Given the description of an element on the screen output the (x, y) to click on. 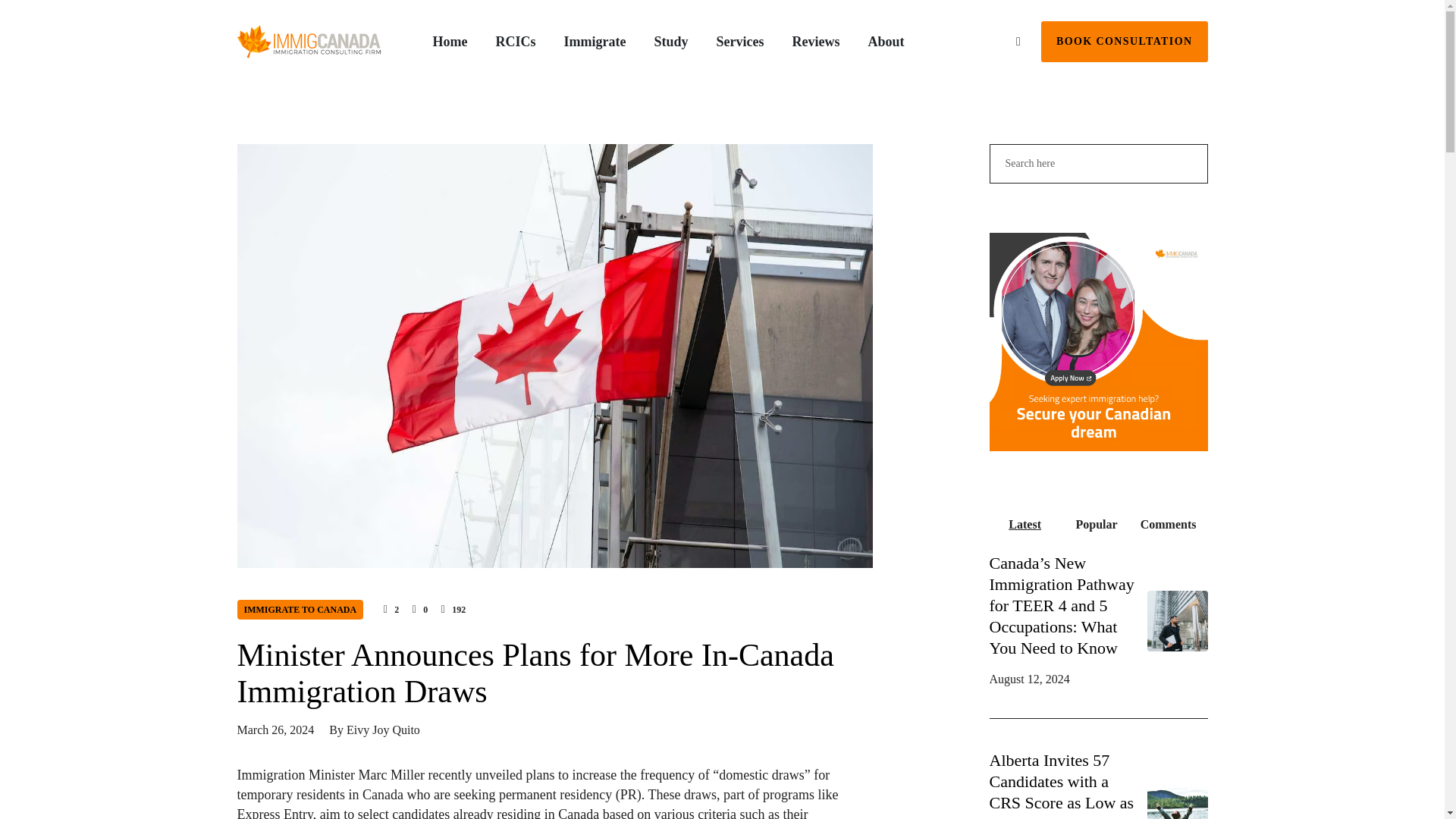
March 26, 2024 (274, 729)
BOOK CONSULTATION (1124, 41)
Posts by Eivy Joy Quito (383, 729)
Immigrate (595, 41)
